Given the description of an element on the screen output the (x, y) to click on. 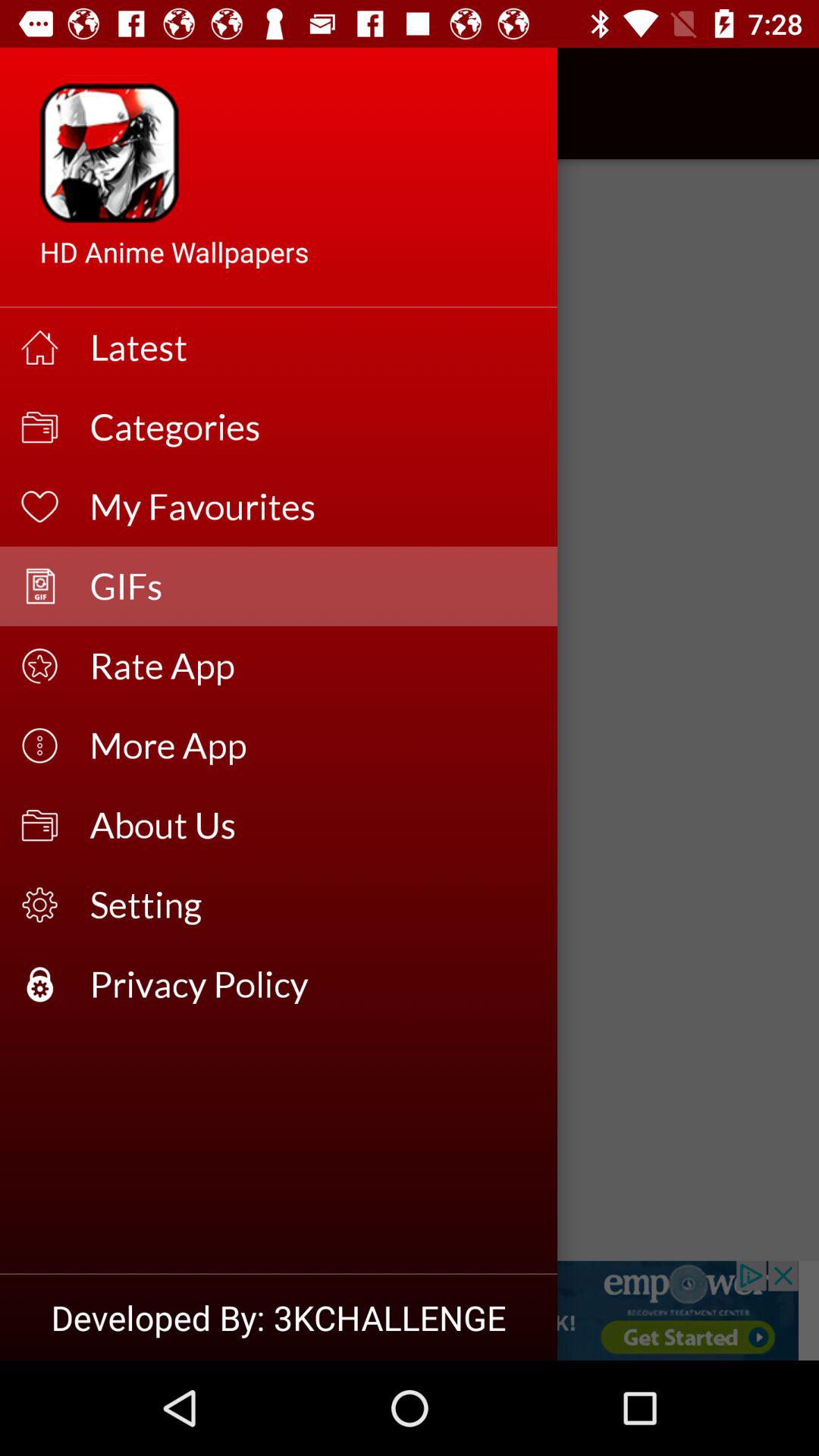
open icon below setting (313, 984)
